Given the description of an element on the screen output the (x, y) to click on. 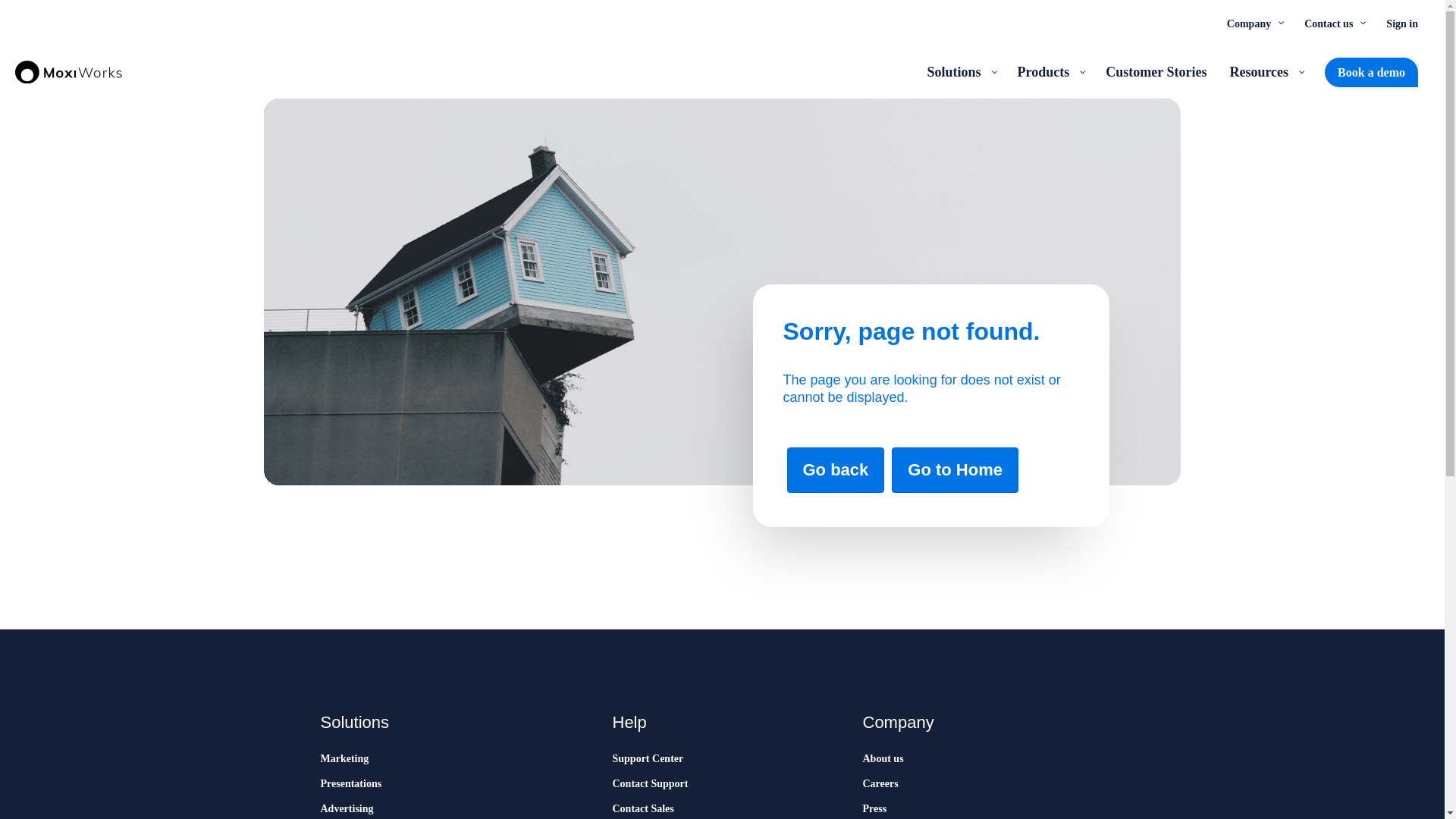
Contact us (1333, 22)
Sign in (1401, 22)
Company (1253, 22)
Products (1050, 72)
Solutions (960, 72)
